Given the description of an element on the screen output the (x, y) to click on. 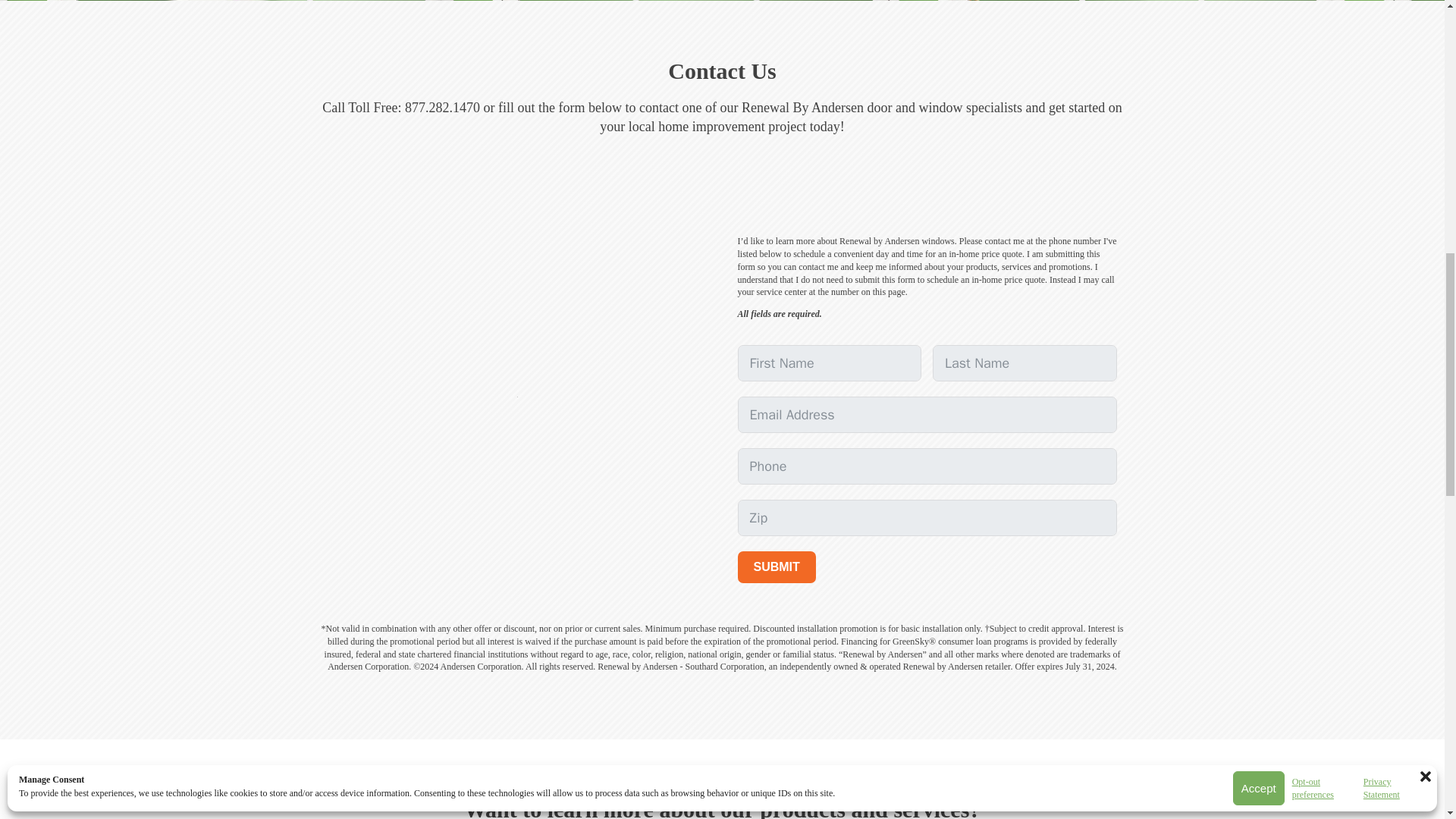
SUBMIT (775, 567)
877.282.1470 (442, 107)
